Given the description of an element on the screen output the (x, y) to click on. 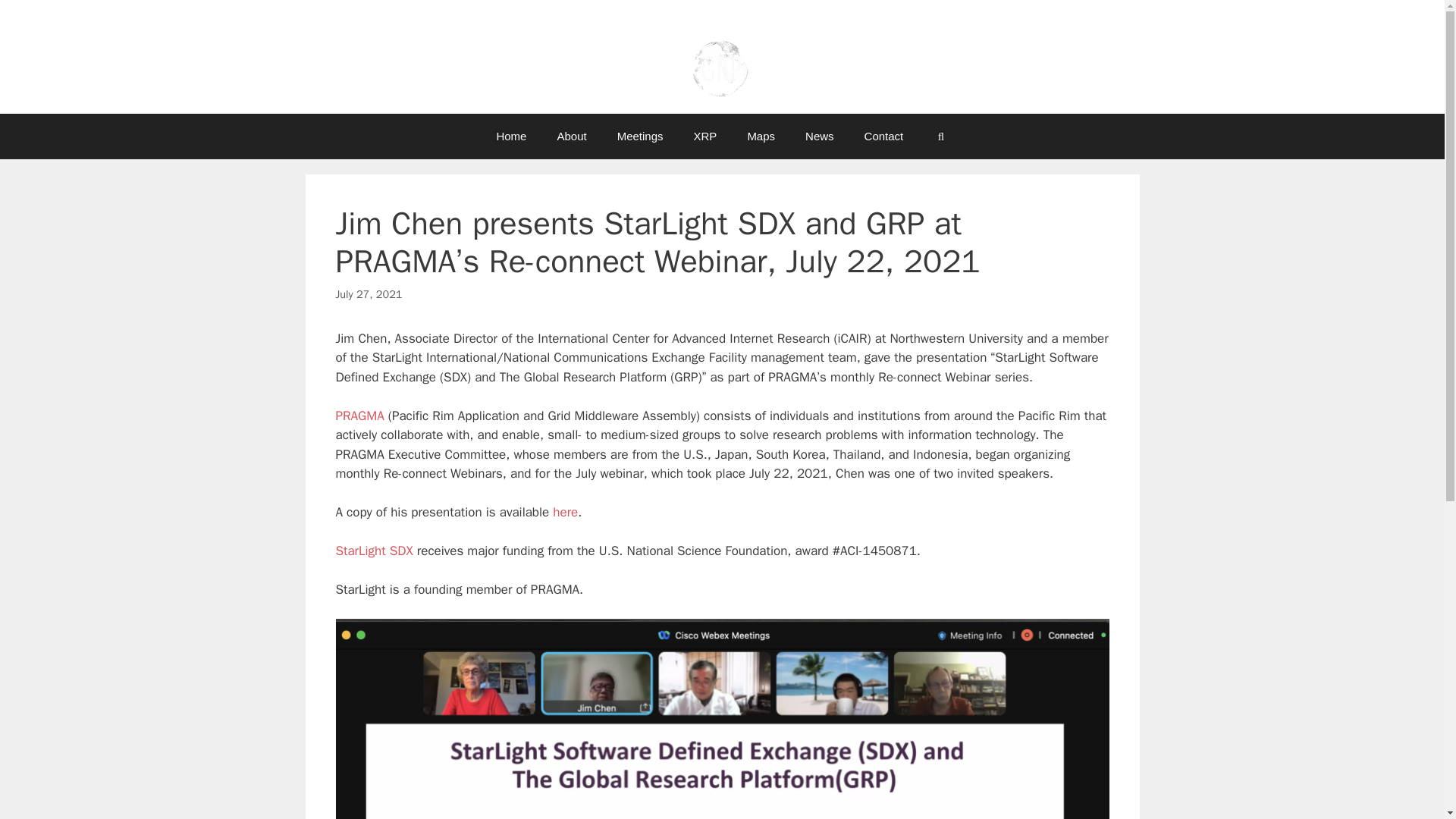
Maps (761, 135)
StarLight SDX (373, 550)
XRP (705, 135)
Contact (883, 135)
Home (510, 135)
Meetings (640, 135)
PRAGMA (359, 415)
THE GLOBAL RESEARCH PLATFORM (721, 25)
News (819, 135)
About (571, 135)
